Given the description of an element on the screen output the (x, y) to click on. 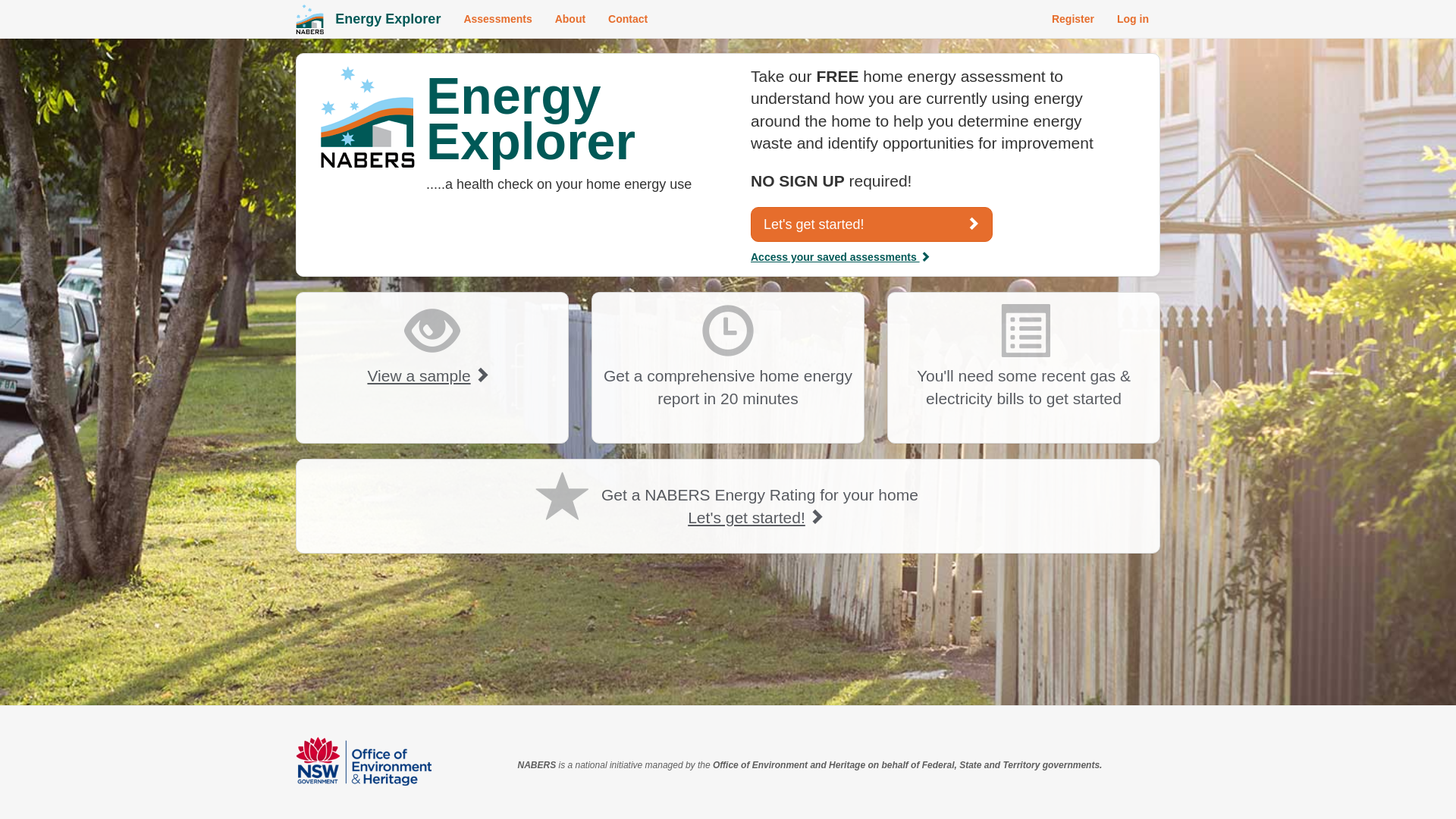
Assessments Element type: text (496, 18)
View a sample Element type: text (431, 377)
Let's get started! Element type: text (871, 224)
Contact Element type: text (627, 18)
Access your saved assessments Element type: text (840, 257)
Energy Explorer Element type: text (387, 18)
Office of Environment and Heritage Home Page Element type: hover (363, 760)
Let's get started! Element type: text (759, 519)
About Element type: text (569, 18)
Register Element type: text (1072, 18)
Log in Element type: text (1132, 18)
